Given the description of an element on the screen output the (x, y) to click on. 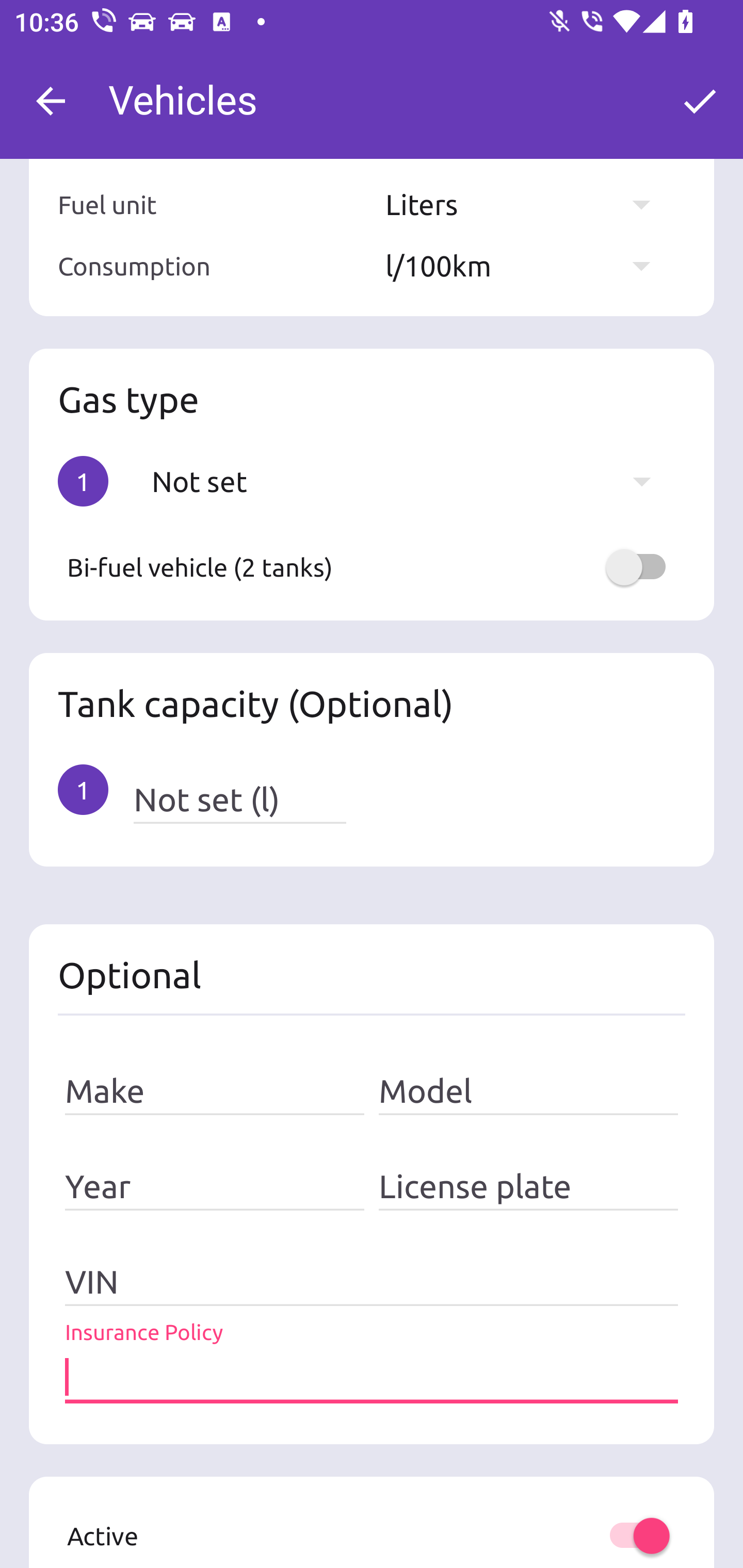
Navigate up (50, 101)
OK (699, 101)
Liters (527, 203)
l/100km (527, 265)
Not set (411, 481)
Bi-fuel vehicle (2 tanks) (371, 566)
Not set (l) (239, 799)
Make (214, 1090)
Model (528, 1090)
Year (214, 1186)
License plate (528, 1186)
VIN (371, 1282)
Insurance Policy (371, 1377)
Active (371, 1535)
